Given the description of an element on the screen output the (x, y) to click on. 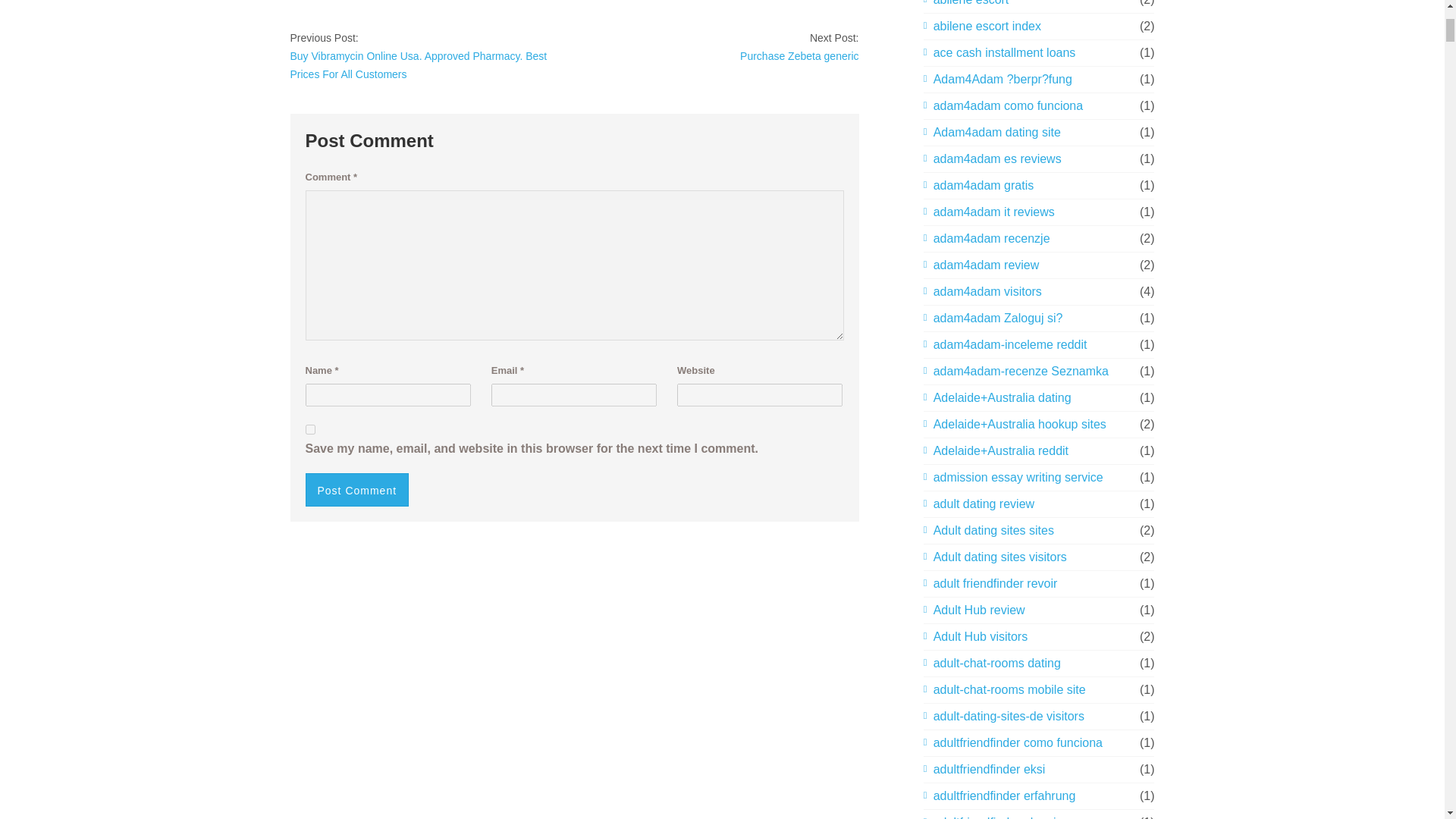
Post Comment (356, 489)
yes (309, 429)
